Given the description of an element on the screen output the (x, y) to click on. 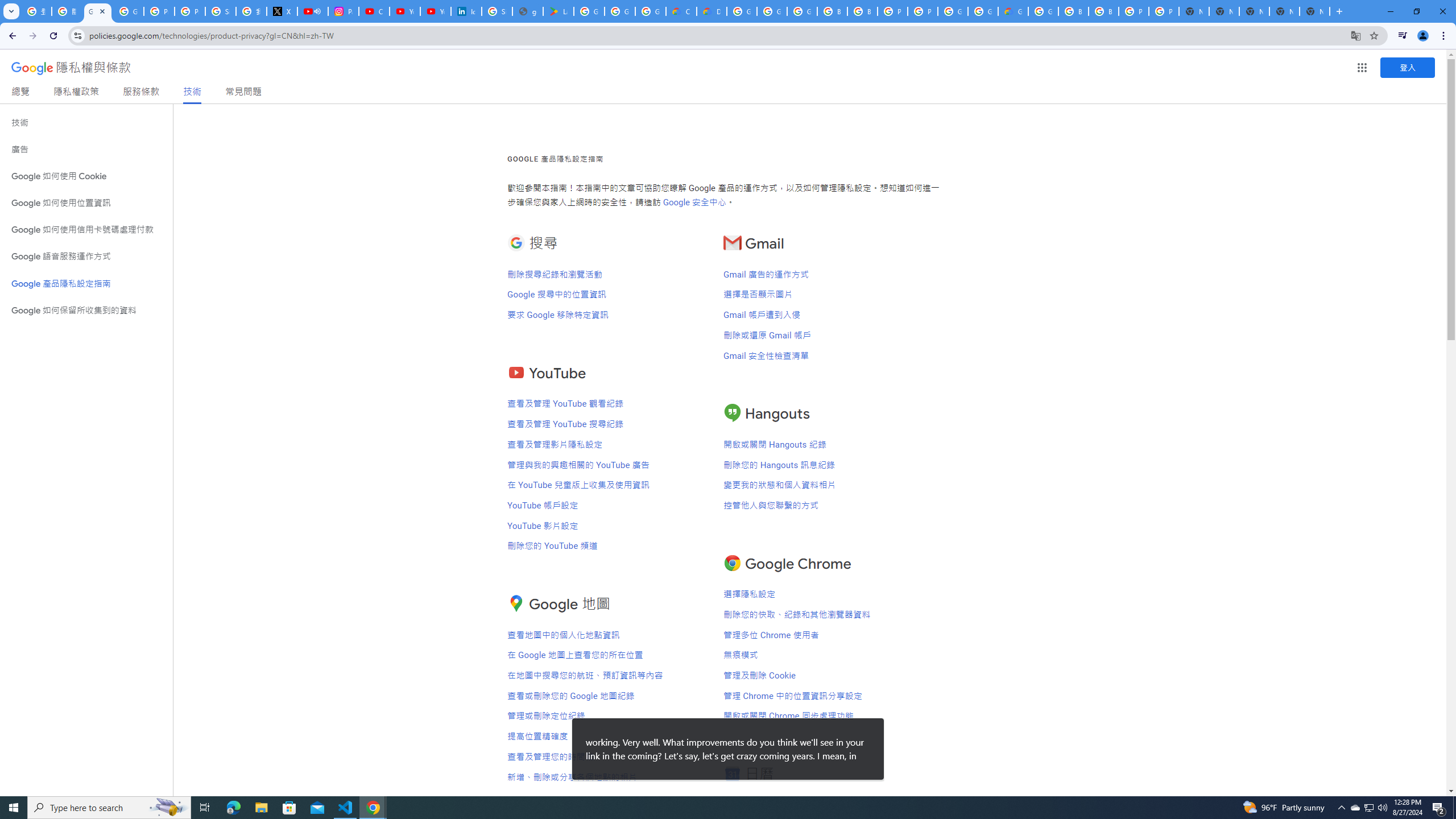
YouTube Culture & Trends - YouTube Top 10, 2021 (434, 11)
